Given the description of an element on the screen output the (x, y) to click on. 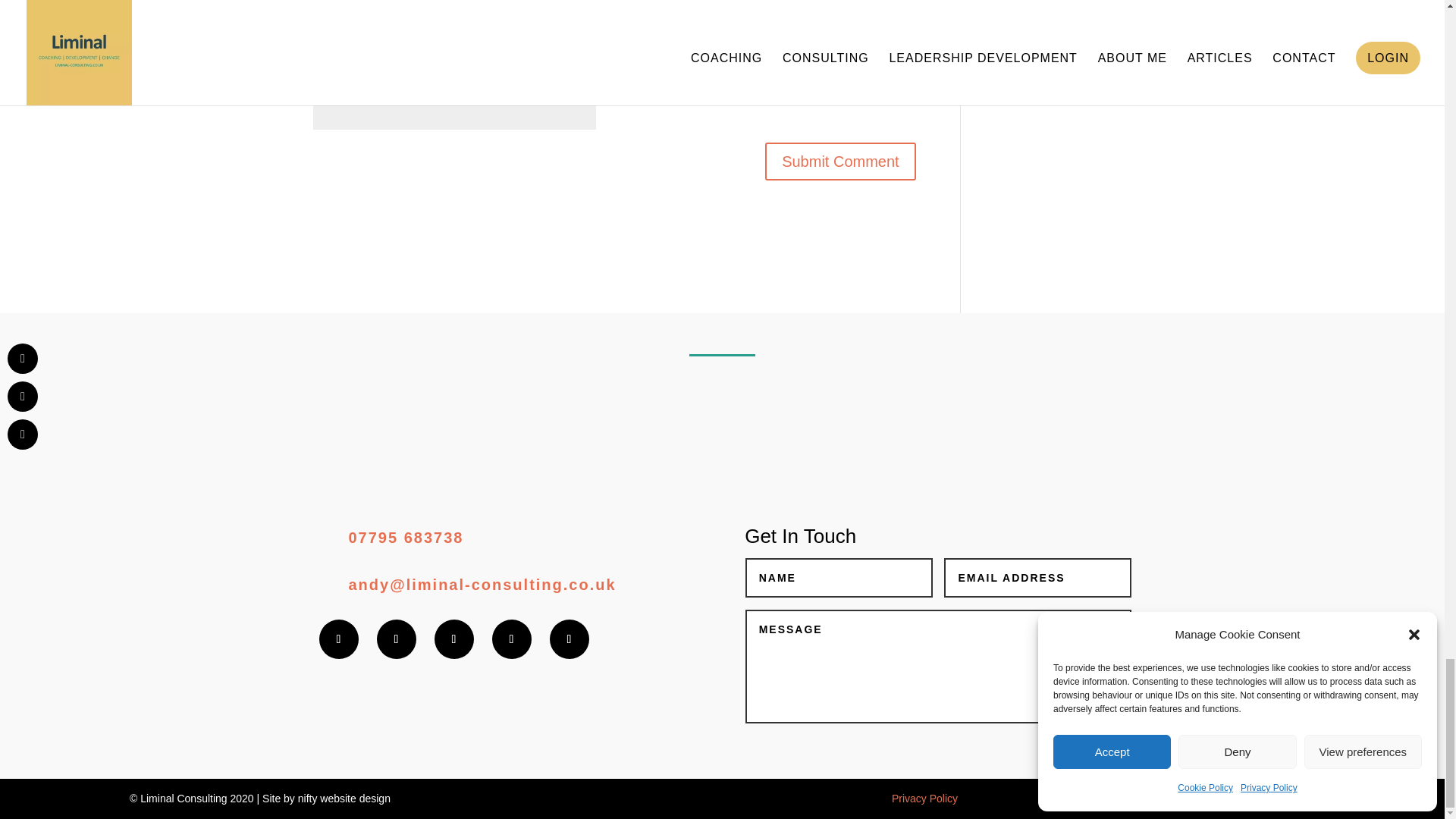
Follow on Facebook (338, 639)
Follow on Instagram (453, 639)
Follow on LinkedIn (568, 639)
Follow on X (394, 639)
Submit Comment (840, 161)
Follow on Youtube (511, 639)
